Given the description of an element on the screen output the (x, y) to click on. 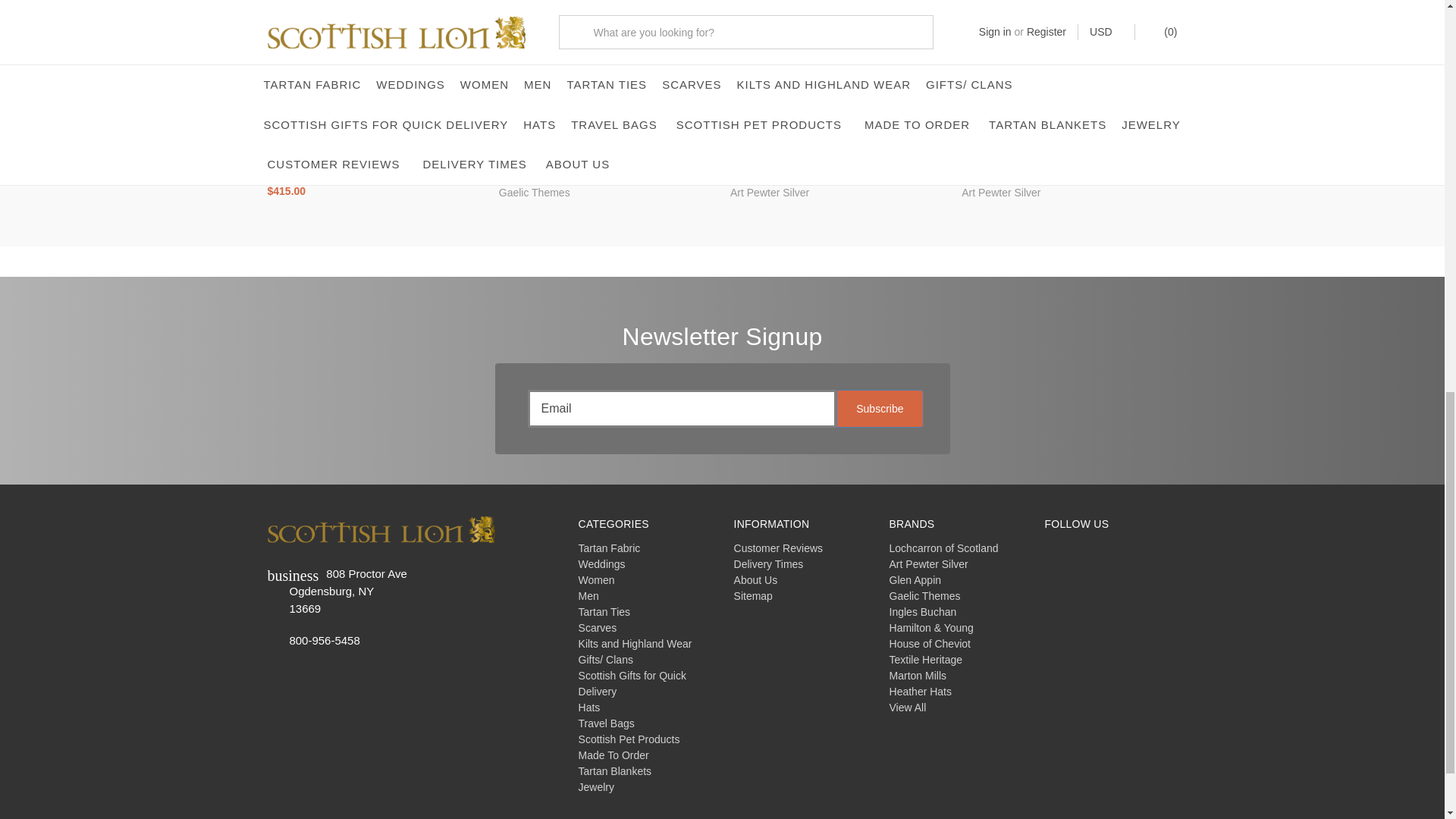
Argyll Tweed Jacket and Vest Charcoal (606, 70)
Scottish Lion (380, 529)
FARQUHARSON Clan Kilt Pin (1069, 70)
APCLHT Harris Tweed Cufflinks (837, 70)
